Given the description of an element on the screen output the (x, y) to click on. 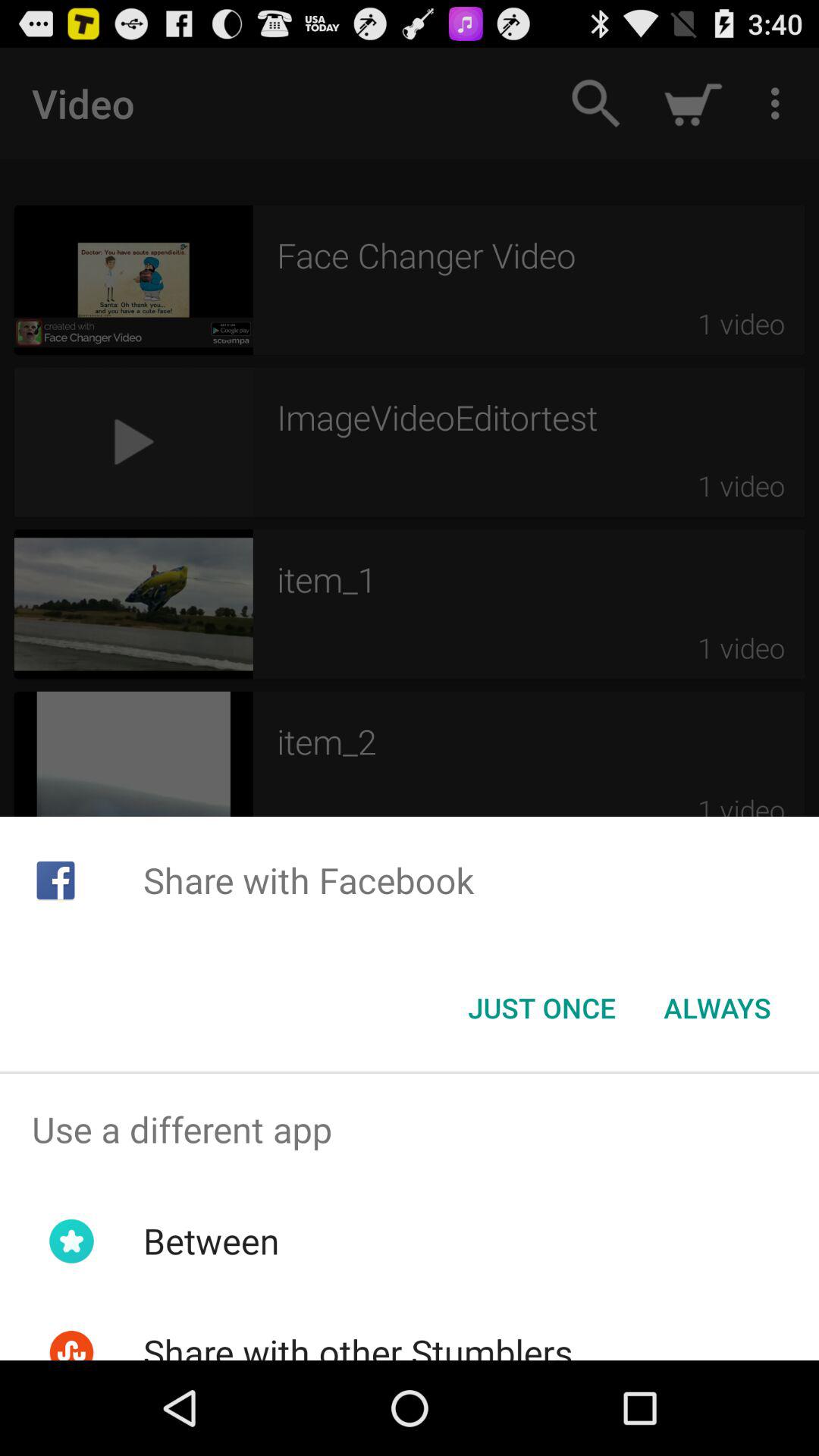
launch always item (717, 1007)
